Given the description of an element on the screen output the (x, y) to click on. 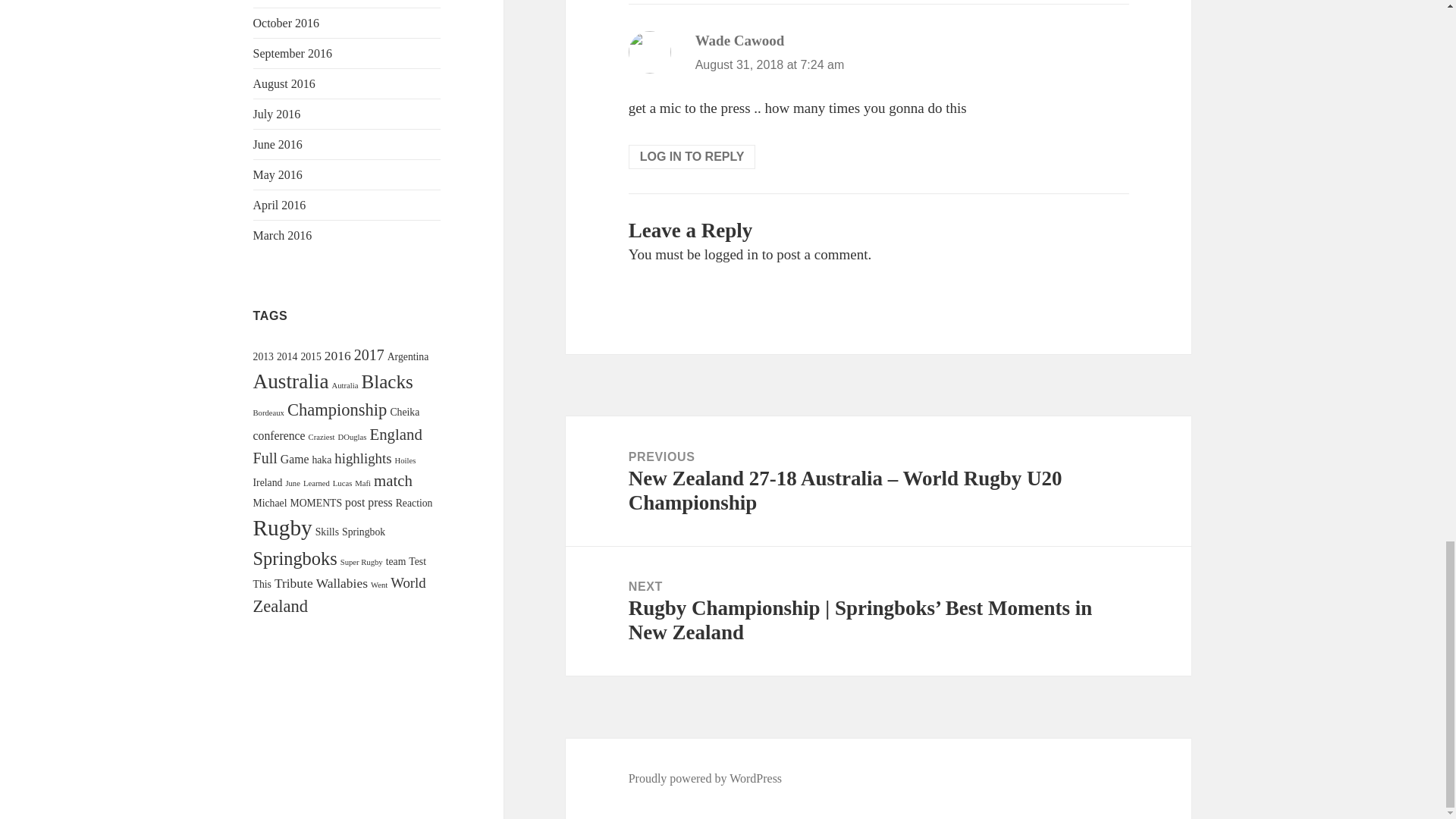
October 2016 (286, 22)
